Given the description of an element on the screen output the (x, y) to click on. 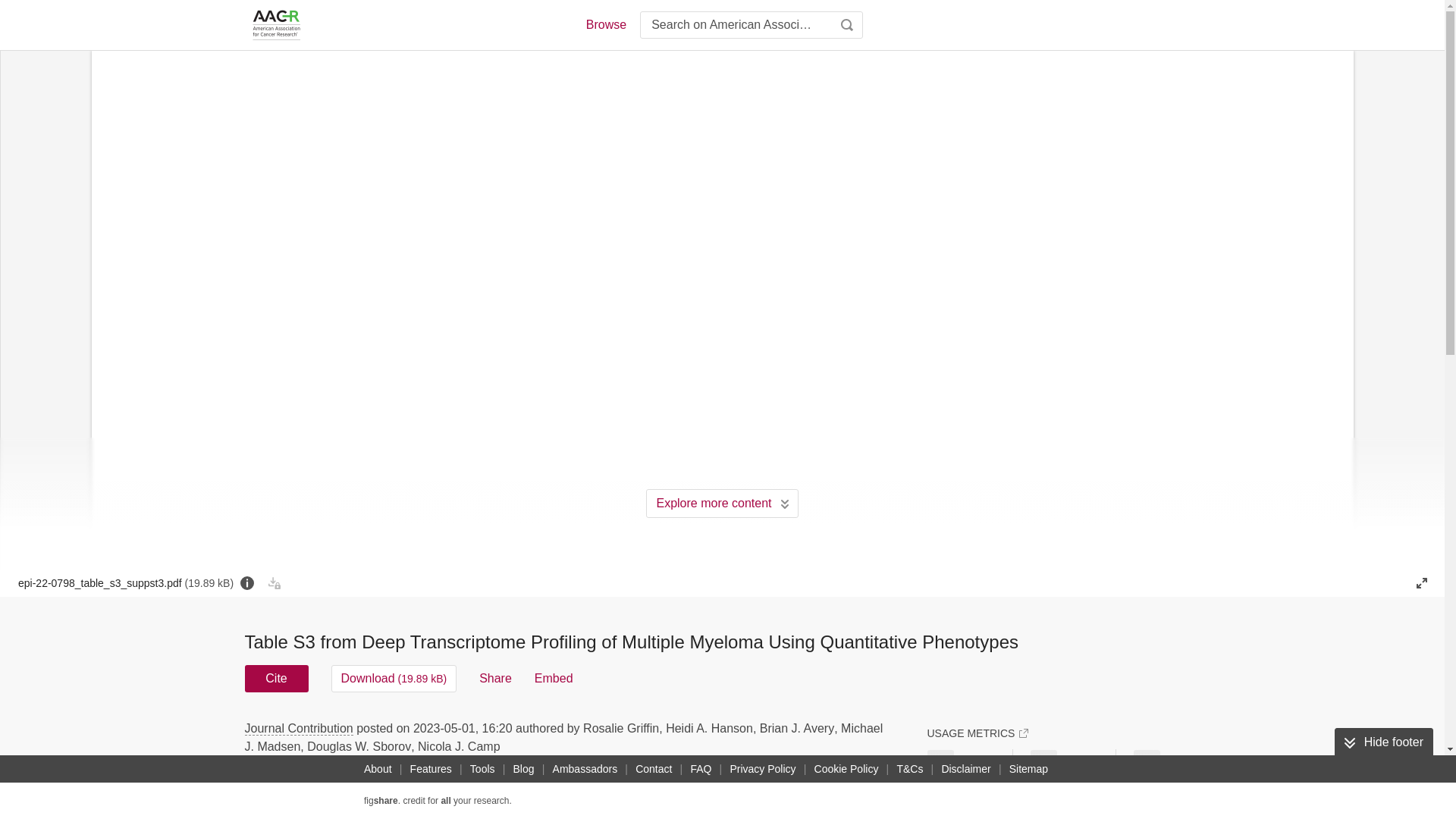
Hide footer (1383, 742)
Browse (605, 24)
USAGE METRICS (976, 732)
Tools (482, 769)
Share (495, 678)
Embed (553, 678)
Features (431, 769)
FAQ (700, 769)
Contact (653, 769)
